Given the description of an element on the screen output the (x, y) to click on. 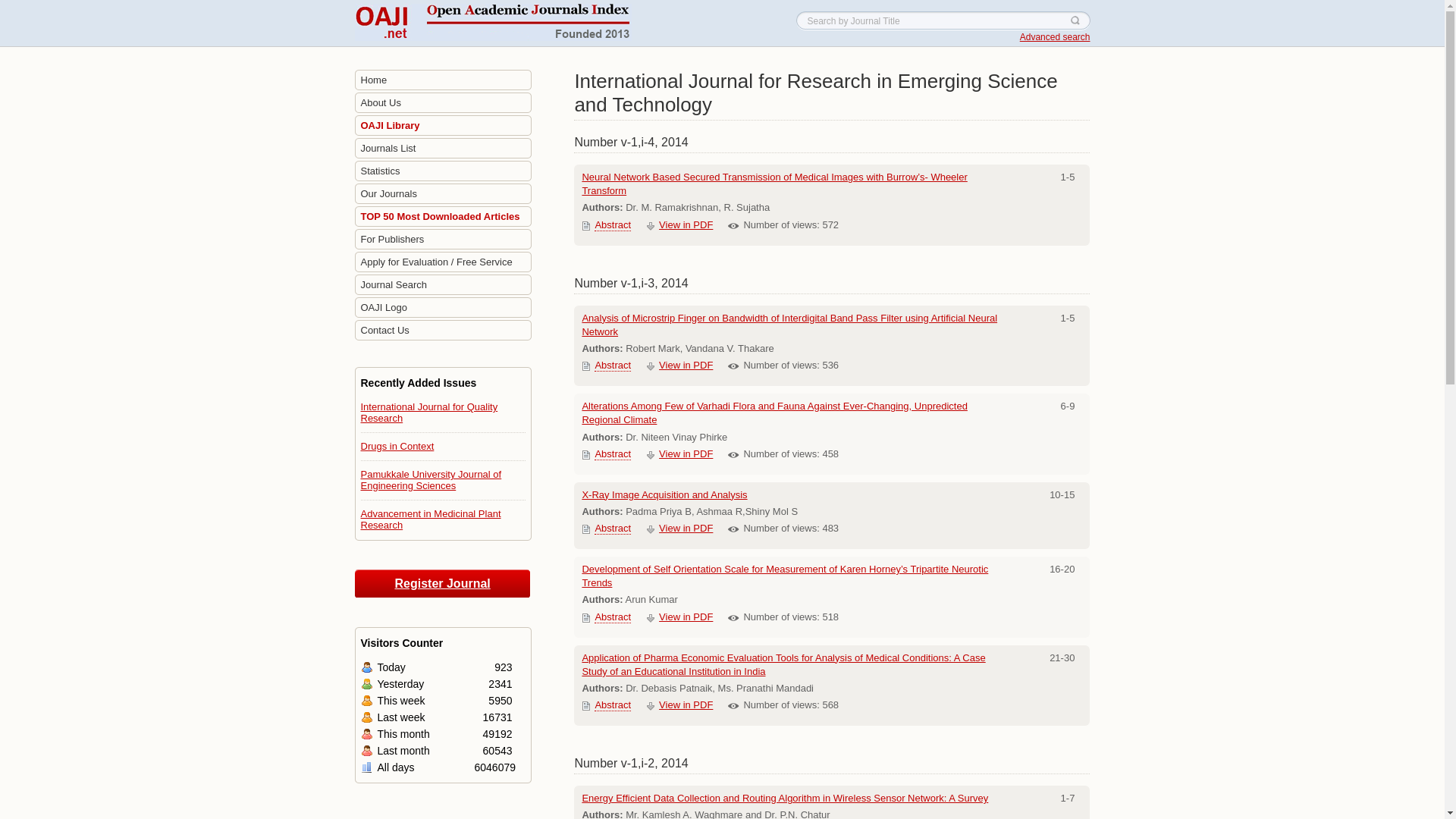
Our Journals (443, 194)
Advanced search (1055, 36)
View in PDF (686, 365)
Drugs in Context (397, 446)
Abstract (612, 365)
Home (443, 80)
OAJI Logo (443, 308)
Journals List (443, 148)
Abstract (612, 224)
Journal Search (443, 285)
